Given the description of an element on the screen output the (x, y) to click on. 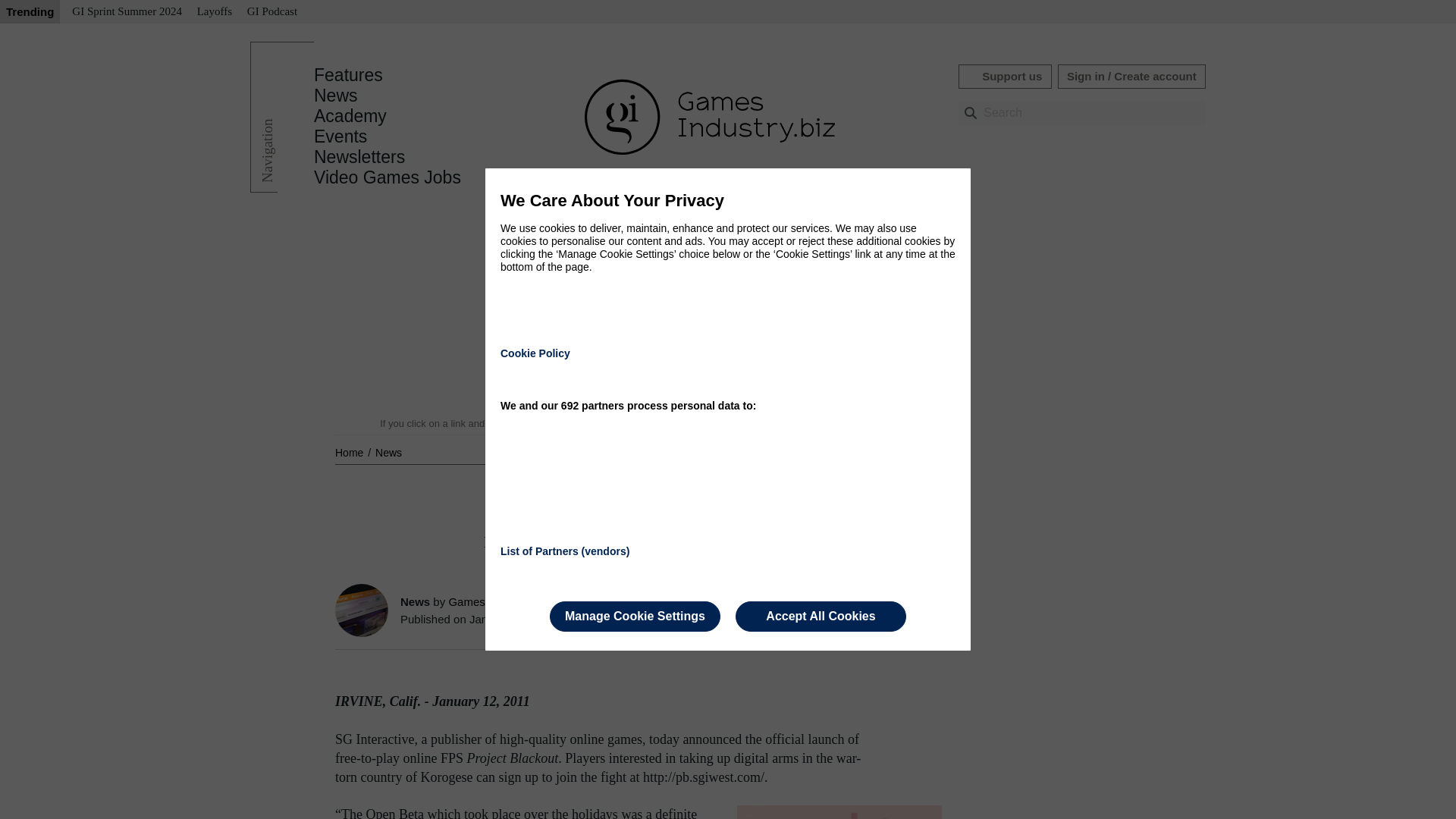
Support us (1004, 75)
Newsletters (359, 157)
Layoffs (214, 11)
Academy (350, 116)
Home (350, 452)
News (388, 452)
Read our editorial policy (781, 423)
News (388, 452)
News (336, 95)
Events (340, 136)
GI Sprint Summer 2024 (126, 11)
Features (348, 75)
GI Podcast (271, 11)
GamesIndustry.biz (494, 601)
Video Games Jobs (387, 177)
